Given the description of an element on the screen output the (x, y) to click on. 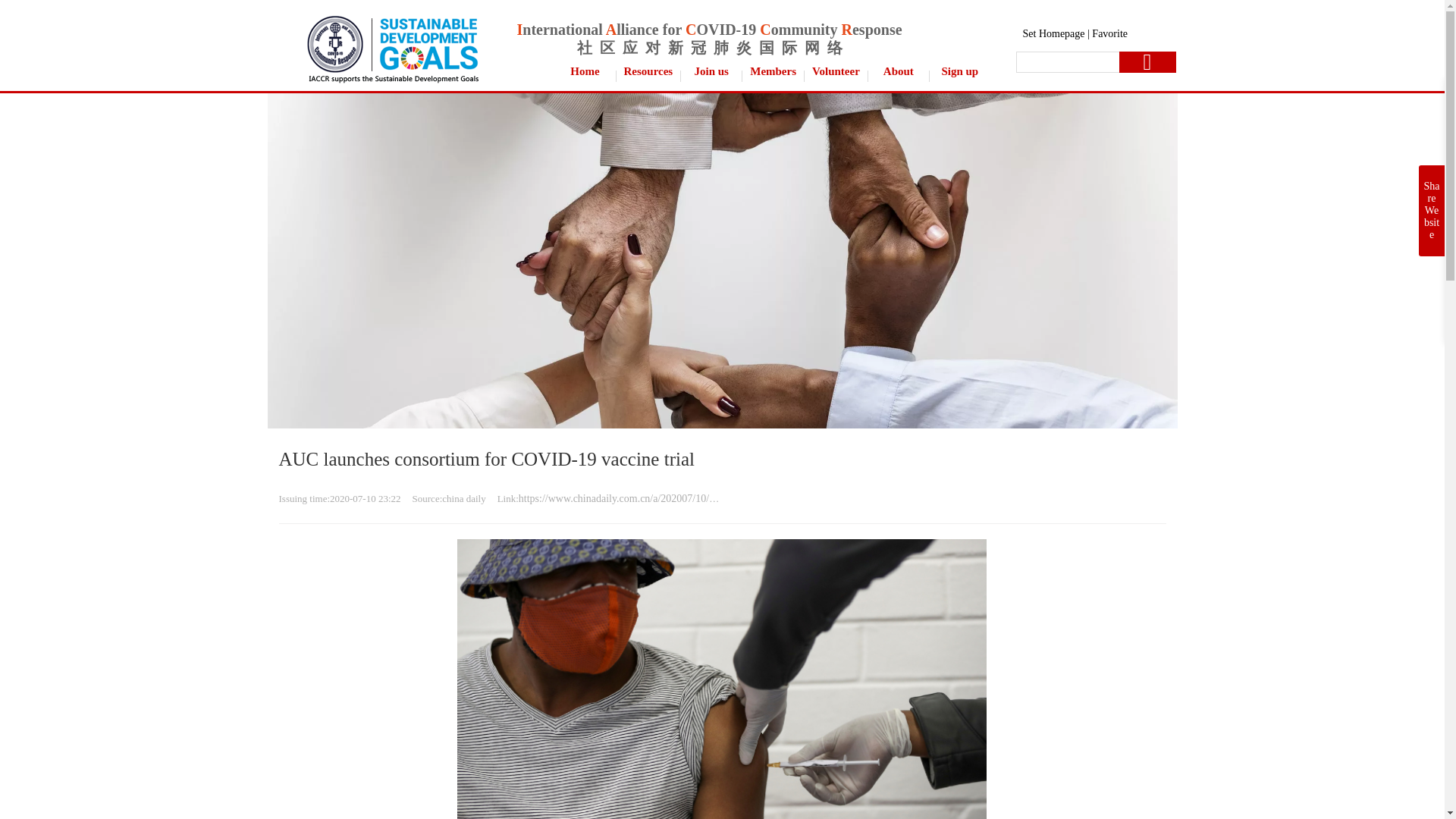
Members (772, 70)
About (898, 70)
Join us (710, 70)
Resources (647, 70)
IACCR (391, 47)
Volunteer (836, 70)
Home (585, 70)
Sign up (959, 70)
